Given the description of an element on the screen output the (x, y) to click on. 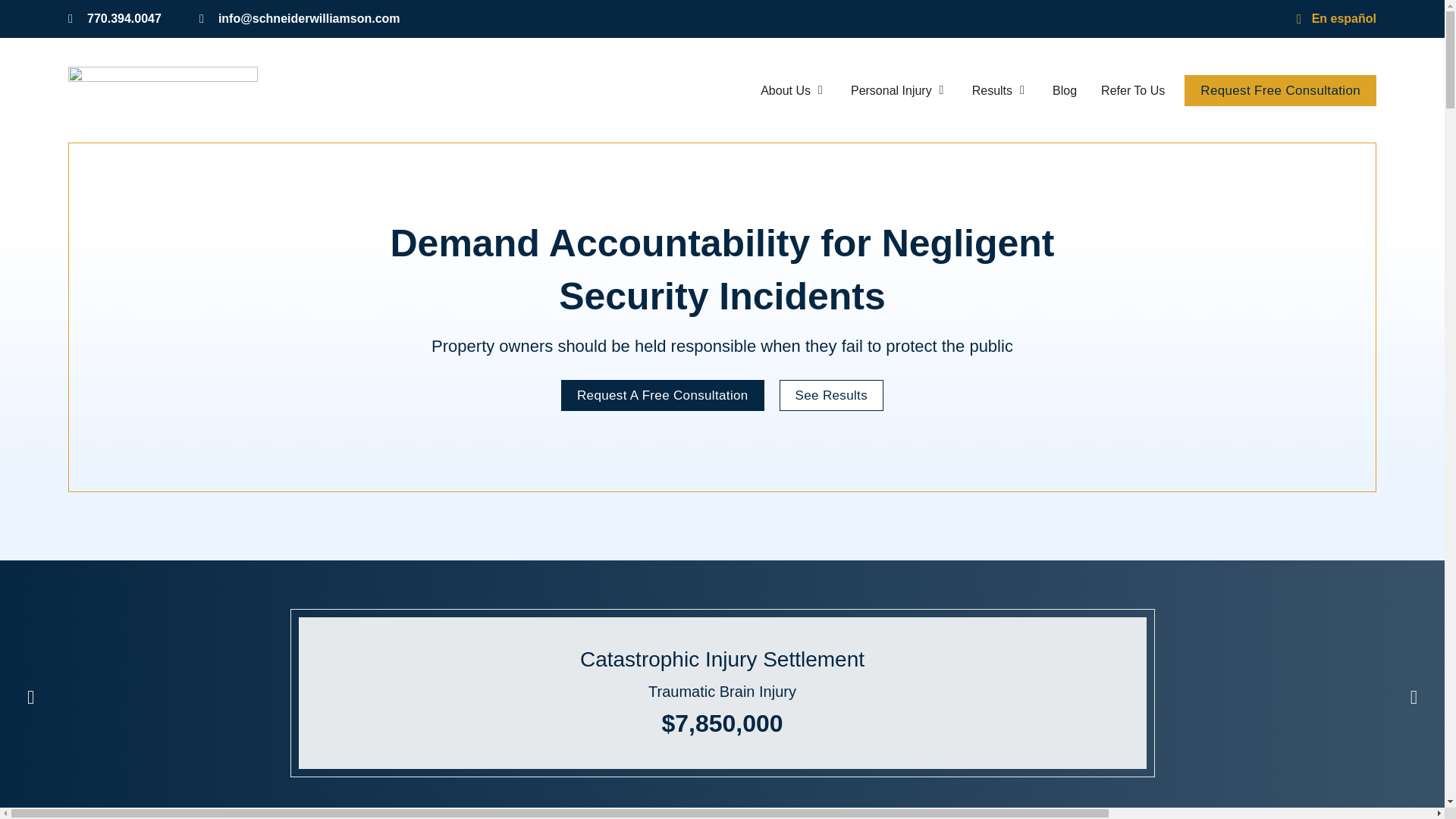
Results (991, 90)
Request A Free Consultation (662, 395)
Refer To Us (1132, 90)
About Us (785, 90)
See Results (830, 395)
770.394.0047 (114, 18)
Blog (1064, 90)
Request Free Consultation (1280, 90)
Personal Injury (890, 90)
